Given the description of an element on the screen output the (x, y) to click on. 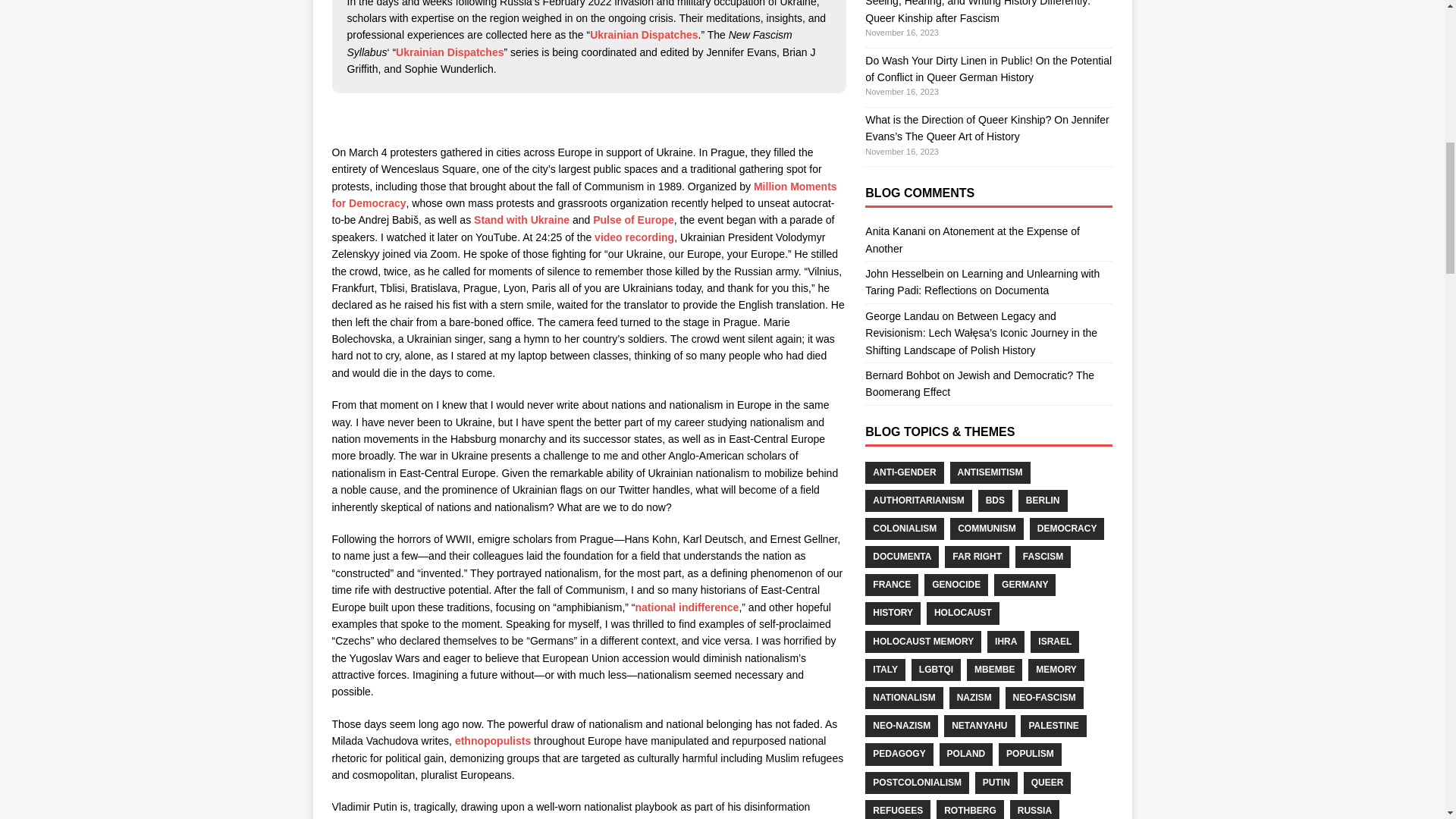
ethnopopulists (492, 740)
Ukrainian Dispatches (643, 34)
Pulse of Europe (633, 219)
Stand with Ukraine (521, 219)
Million Moments for Democracy (584, 194)
video recording (634, 236)
Ukrainian Dispatches (449, 51)
national indifference (686, 607)
